Given the description of an element on the screen output the (x, y) to click on. 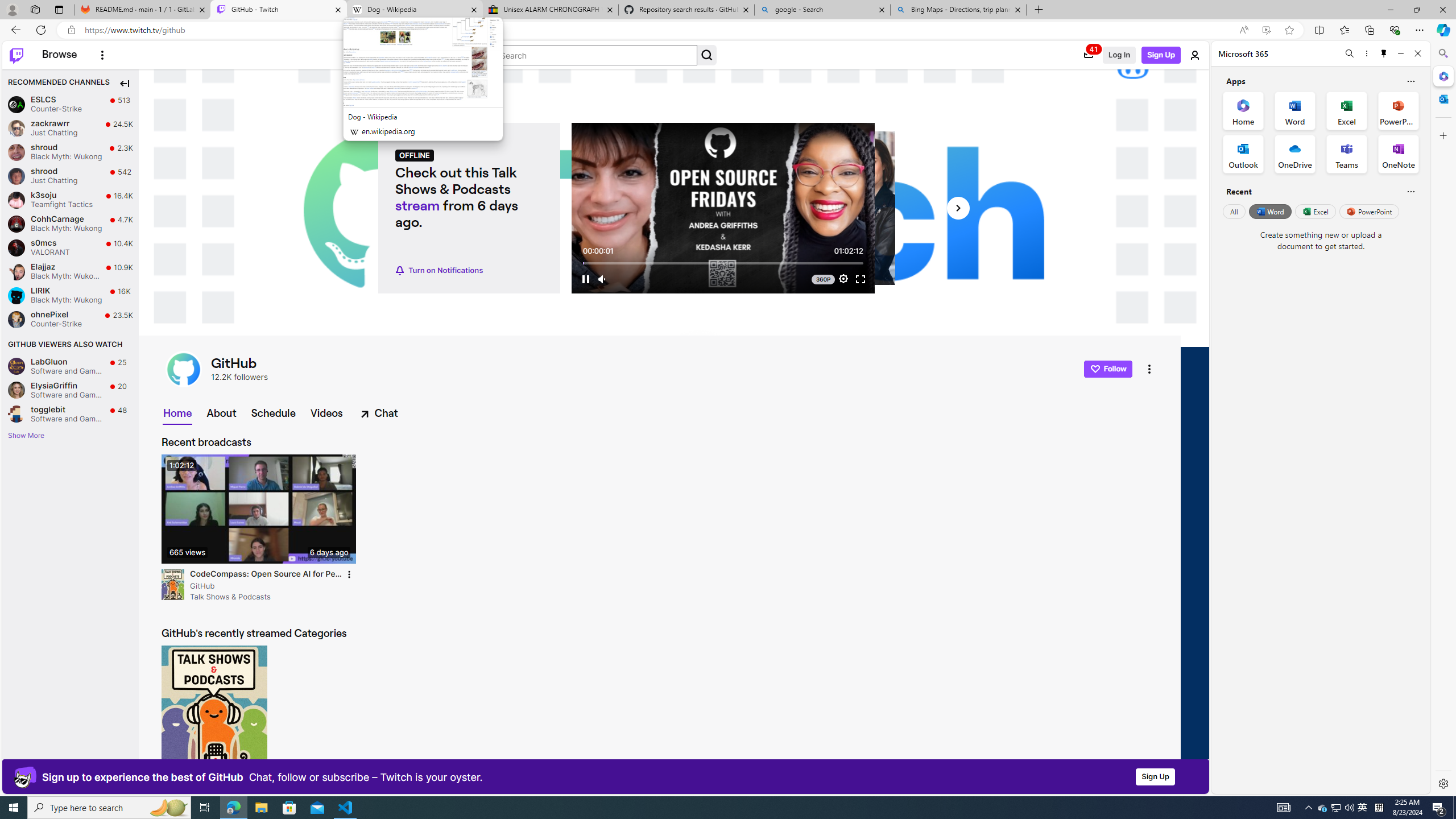
ElysiaGriffin (15, 390)
LabGluon (15, 366)
Outlook Office App (1243, 154)
Browse (59, 54)
CoolCat (24, 776)
LIRIK LIRIK Black Myth: Wukong Live 16K viewers (70, 295)
ohnePixel (15, 319)
Go to Next Video (957, 207)
Search Input (596, 55)
